Given the description of an element on the screen output the (x, y) to click on. 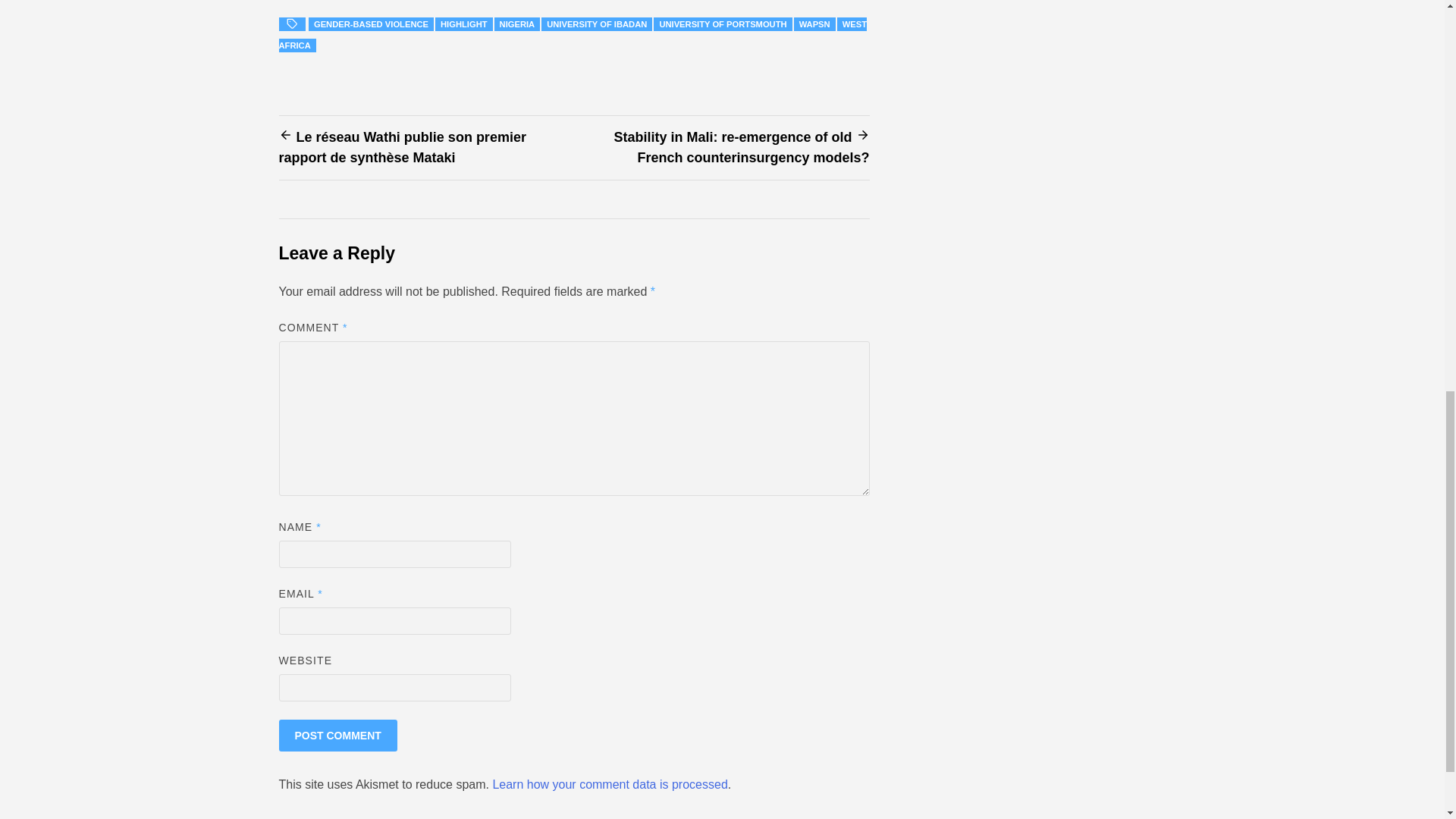
Post Comment (338, 735)
HIGHLIGHT (464, 24)
NIGERIA (517, 24)
UNIVERSITY OF PORTSMOUTH (722, 24)
GENDER-BASED VIOLENCE (370, 24)
Learn how your comment data is processed (609, 784)
WEST AFRICA (572, 34)
Post Comment (338, 735)
UNIVERSITY OF IBADAN (596, 24)
WAPSN (814, 24)
